Given the description of an element on the screen output the (x, y) to click on. 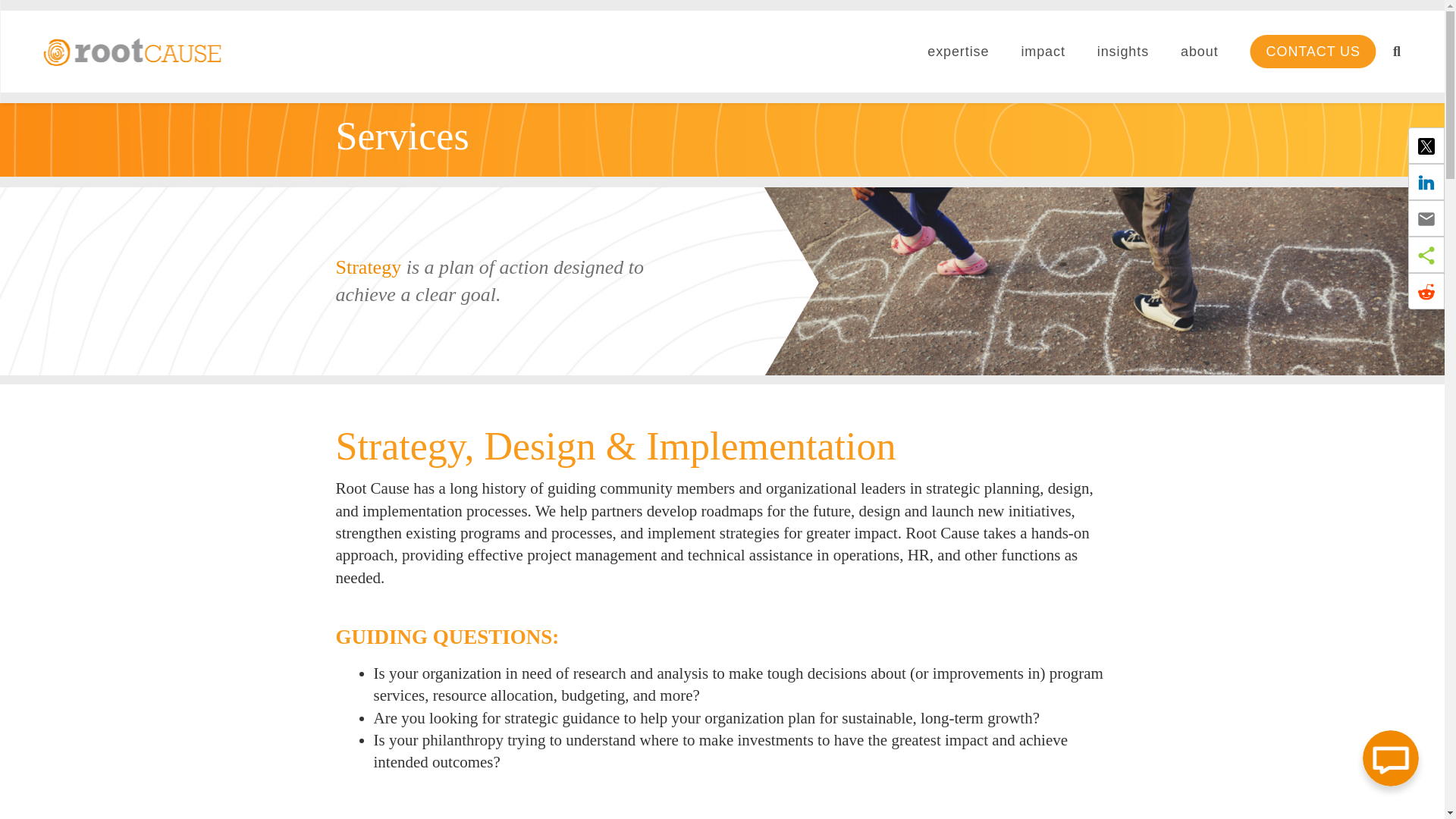
impact (1050, 51)
CONTACT US (1312, 51)
insights (1130, 51)
expertise (965, 51)
